Given the description of an element on the screen output the (x, y) to click on. 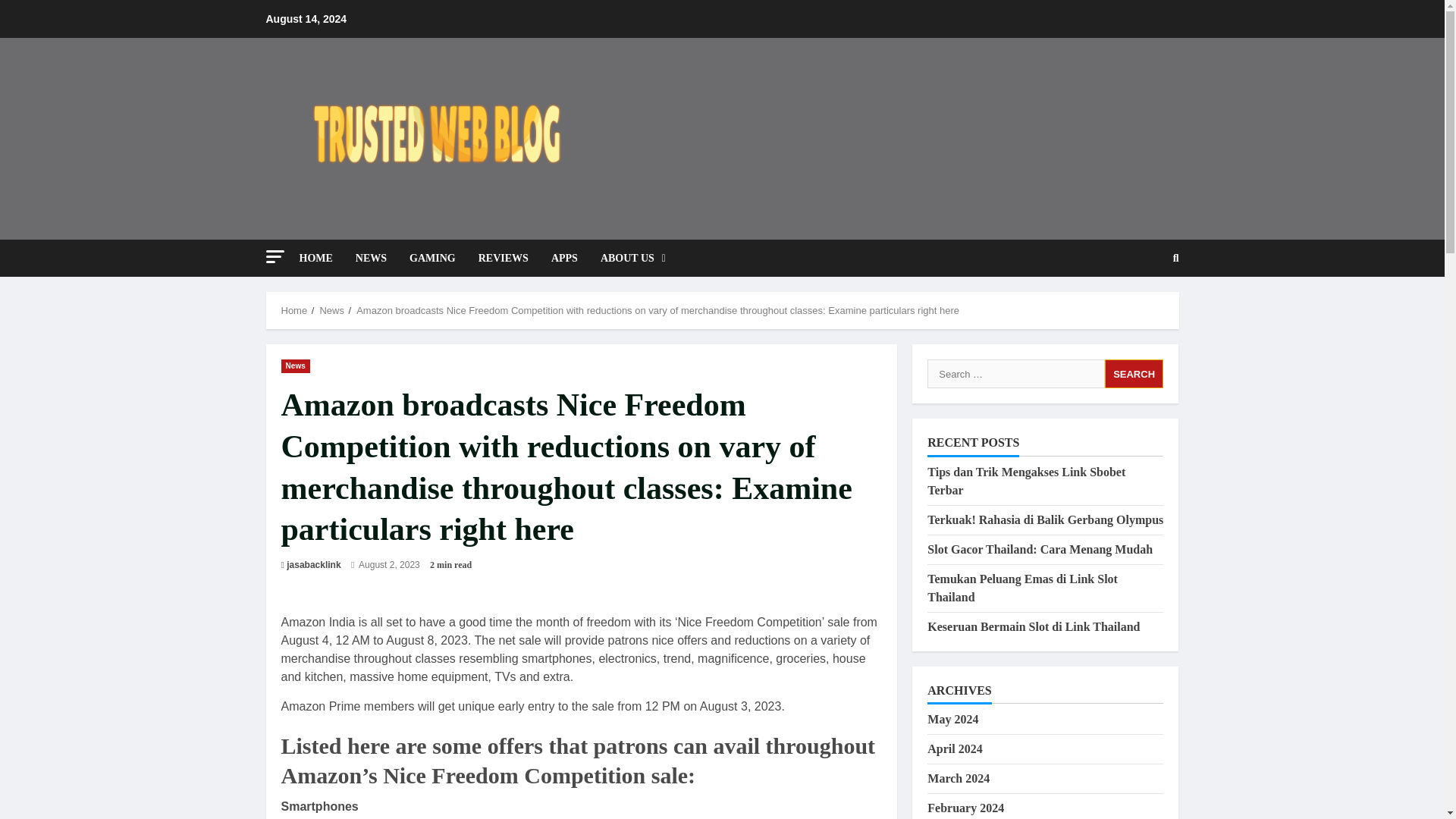
jasabacklink (313, 564)
REVIEWS (503, 257)
Search (1134, 373)
Search (1139, 309)
Home (294, 310)
NEWS (370, 257)
ABOUT US (627, 257)
News (295, 366)
News (330, 310)
